Given the description of an element on the screen output the (x, y) to click on. 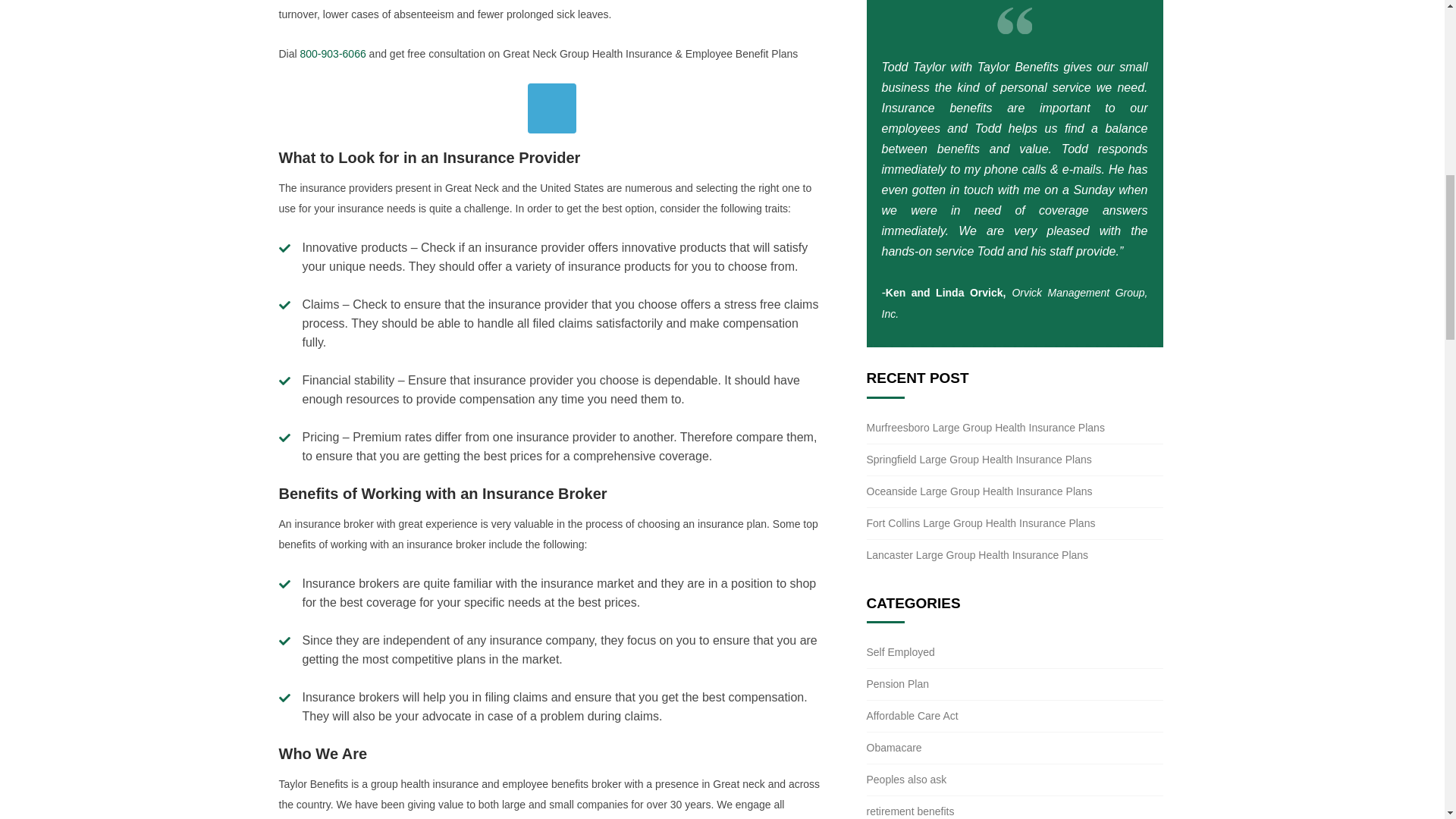
Self Employed (900, 652)
Affordable Care Act (912, 715)
Pension Plan (897, 684)
Oceanside Large Group Health Insurance Plans (979, 491)
Springfield Large Group Health Insurance Plans (978, 459)
Murfreesboro Large Group Health Insurance Plans (984, 427)
800-903-6066 (332, 53)
Fort Collins Large Group Health Insurance Plans (980, 522)
Lancaster Large Group Health Insurance Plans (976, 554)
